Given the description of an element on the screen output the (x, y) to click on. 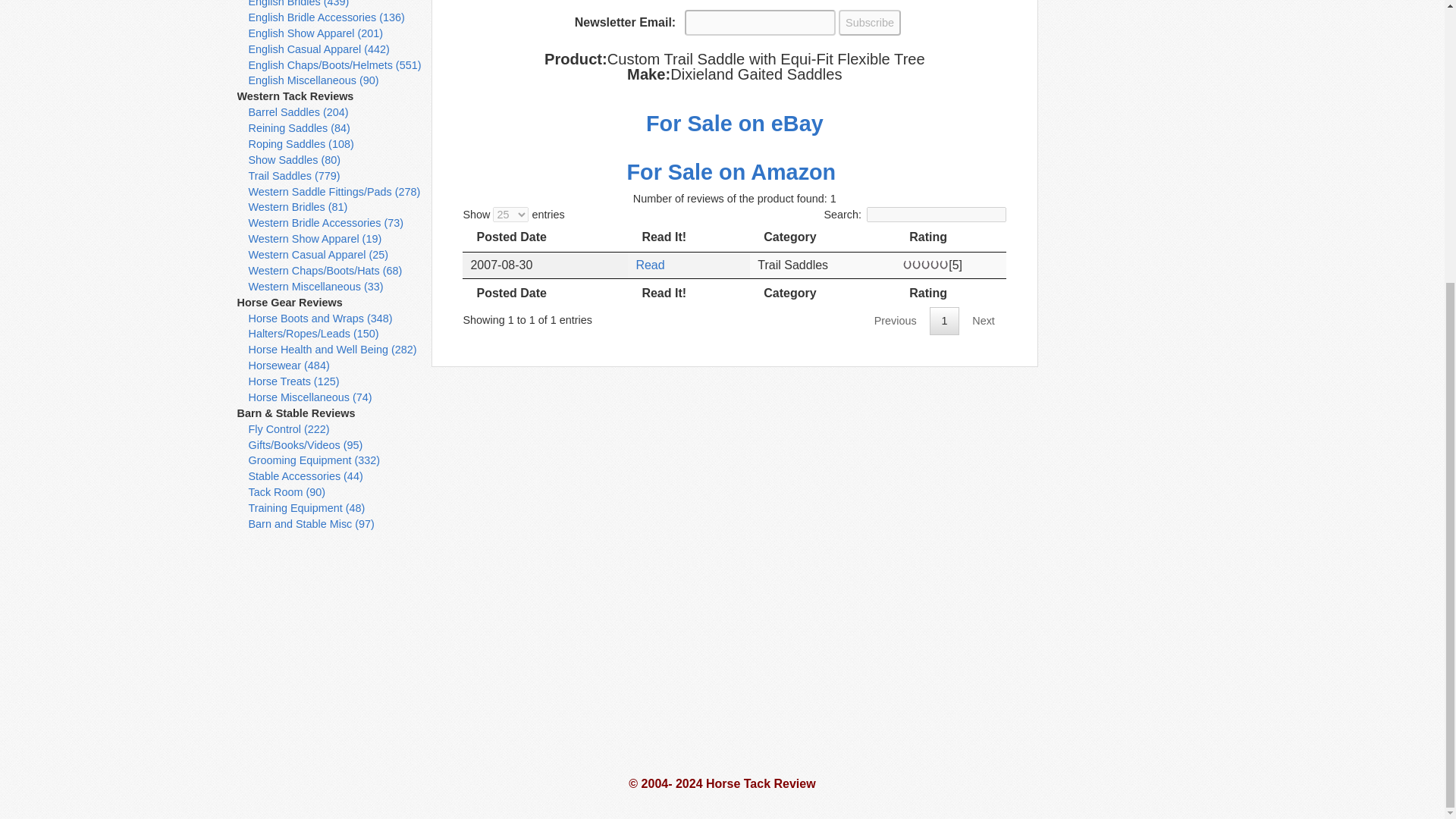
Advertisement (1130, 176)
Subscribe (869, 22)
